Given the description of an element on the screen output the (x, y) to click on. 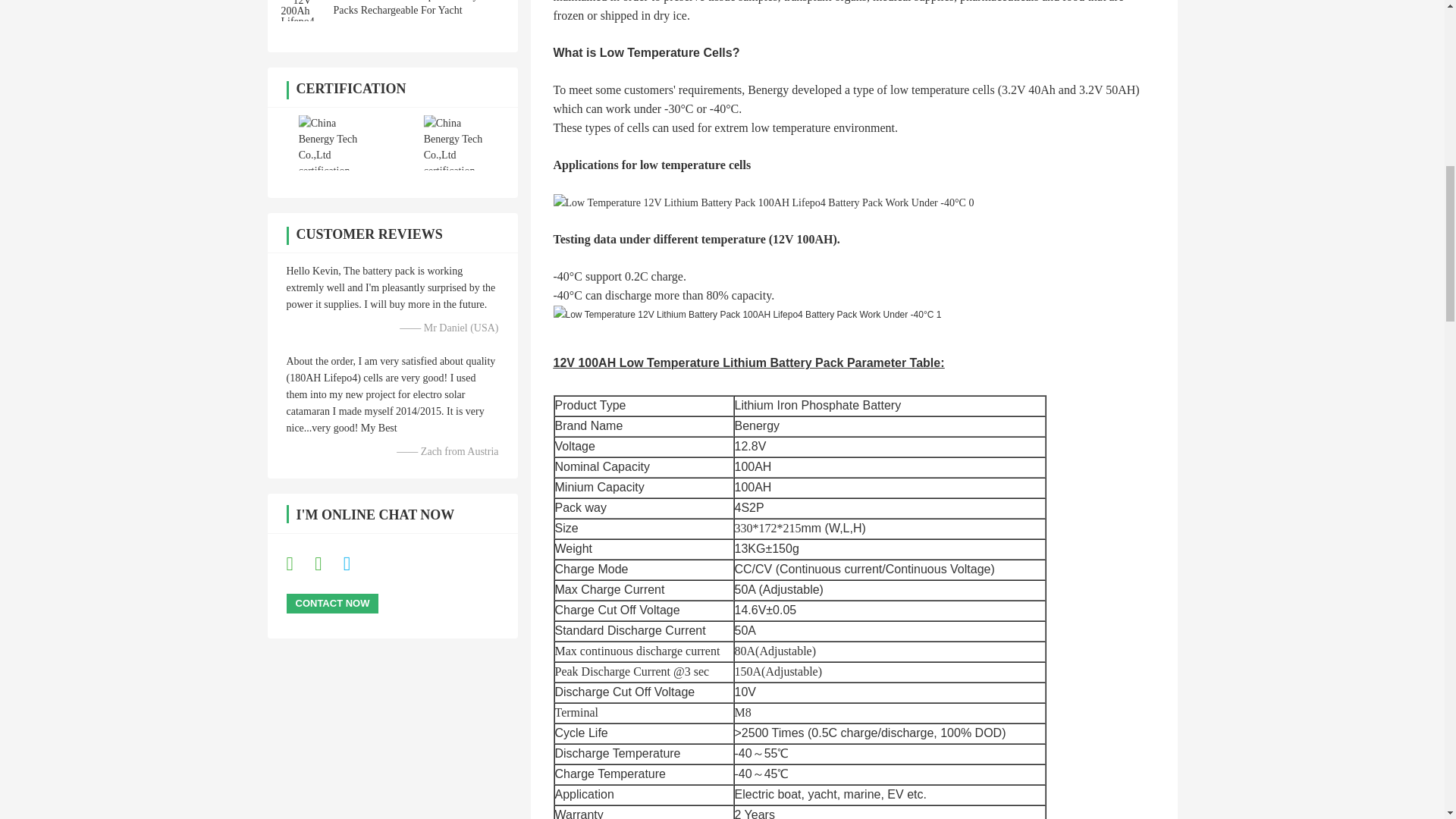
Contact Now (332, 603)
